Given the description of an element on the screen output the (x, y) to click on. 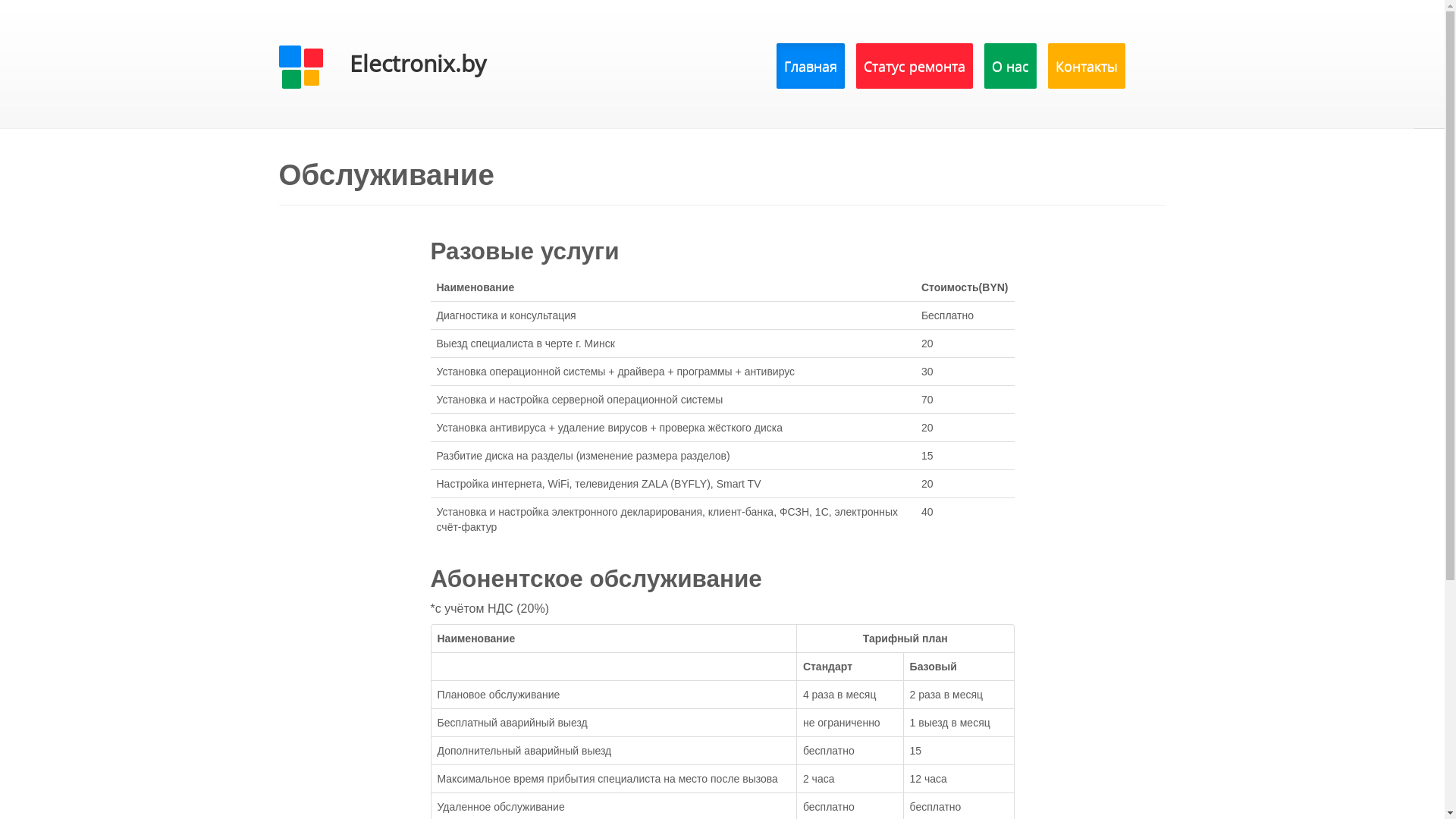
Electronix.by Element type: text (392, 67)
